Given the description of an element on the screen output the (x, y) to click on. 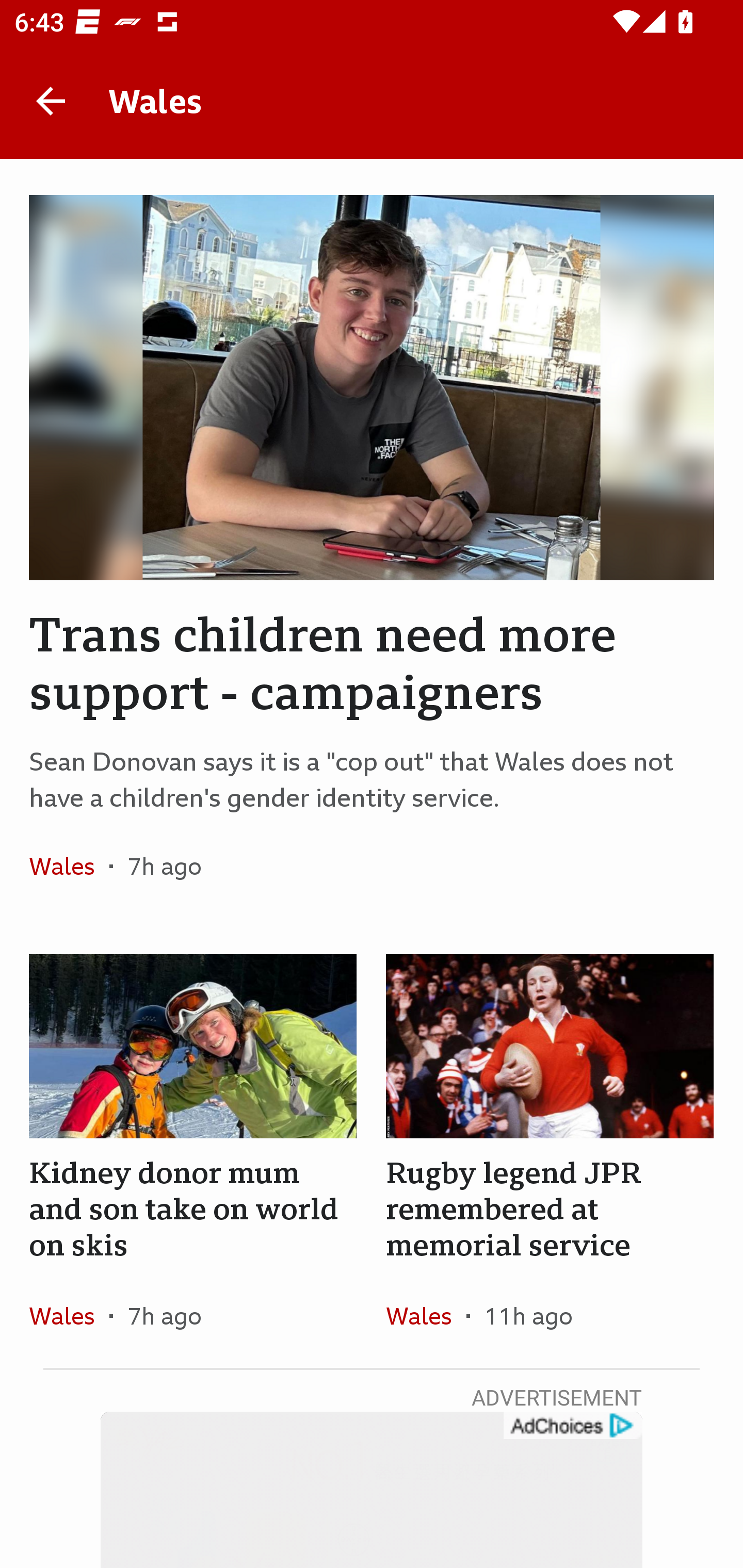
Back (50, 101)
Wales In the section Wales (68, 865)
Wales In the section Wales (68, 1315)
Wales In the section Wales (425, 1315)
Video Player get?name=admarker-full-tl   (371, 1489)
get?name=admarker-full-tl (571, 1425)
